Given the description of an element on the screen output the (x, y) to click on. 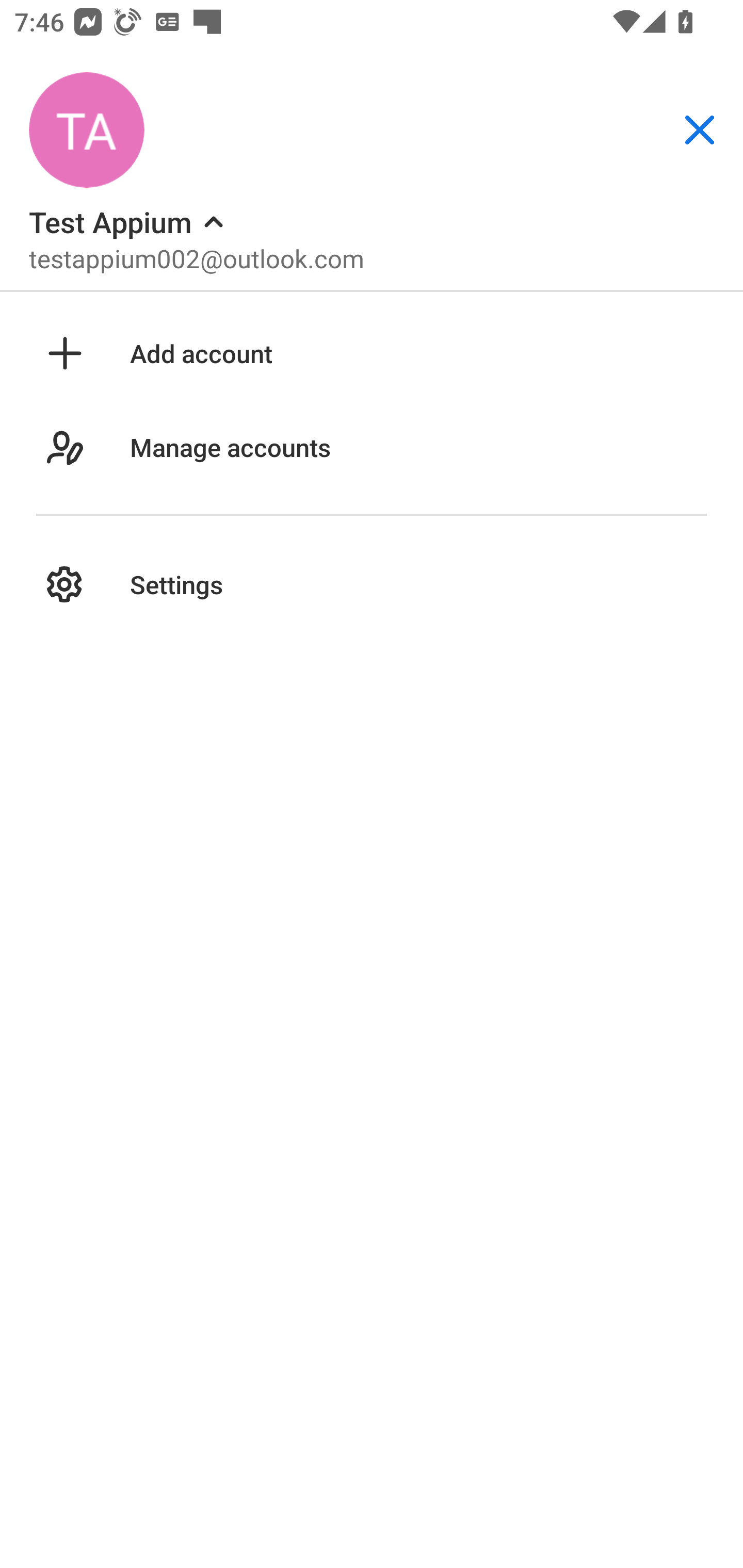
Close (699, 130)
Add account (371, 352)
Manage accounts (371, 468)
Settings (371, 584)
